Given the description of an element on the screen output the (x, y) to click on. 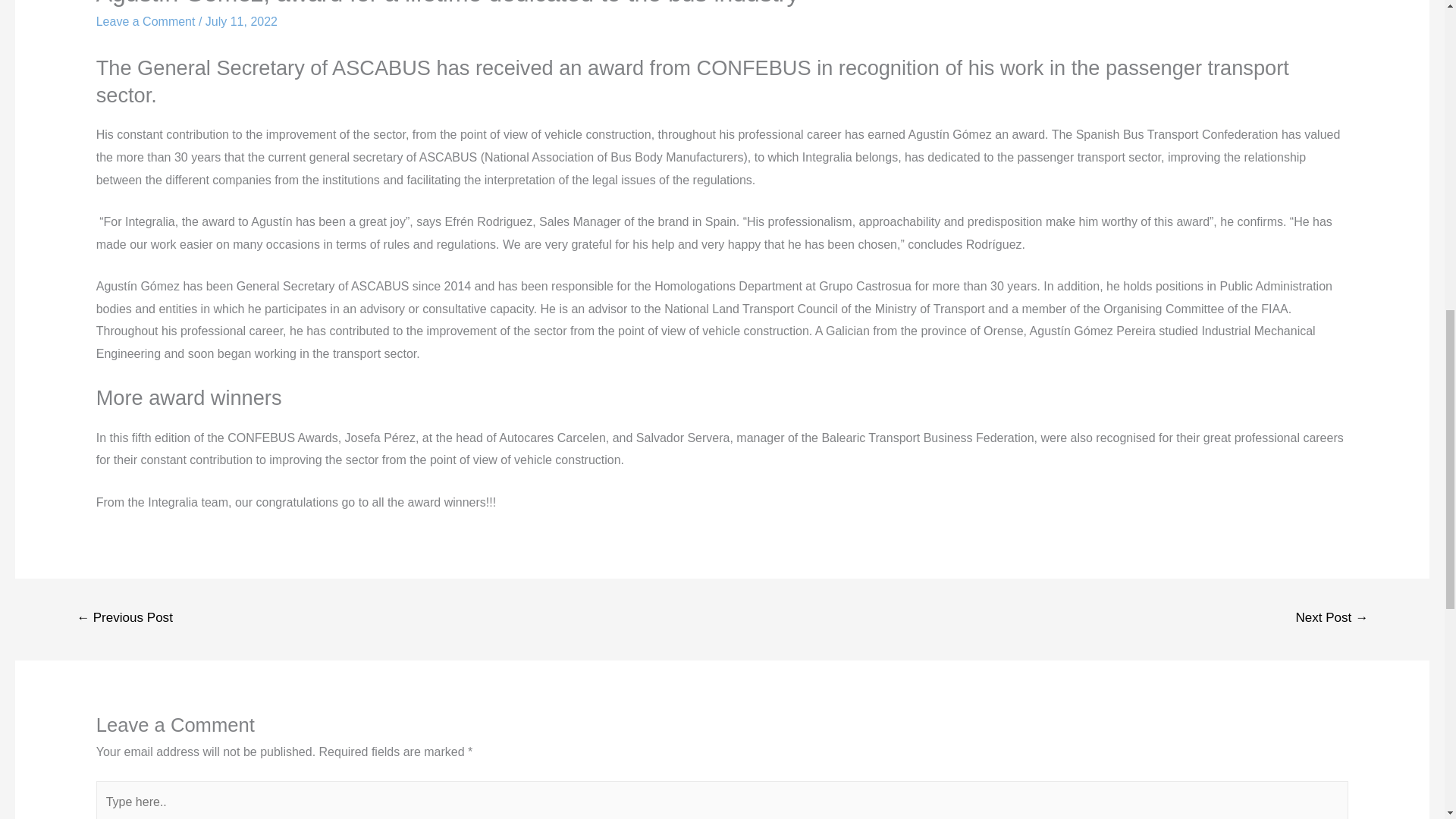
Leave a Comment (145, 21)
